Given the description of an element on the screen output the (x, y) to click on. 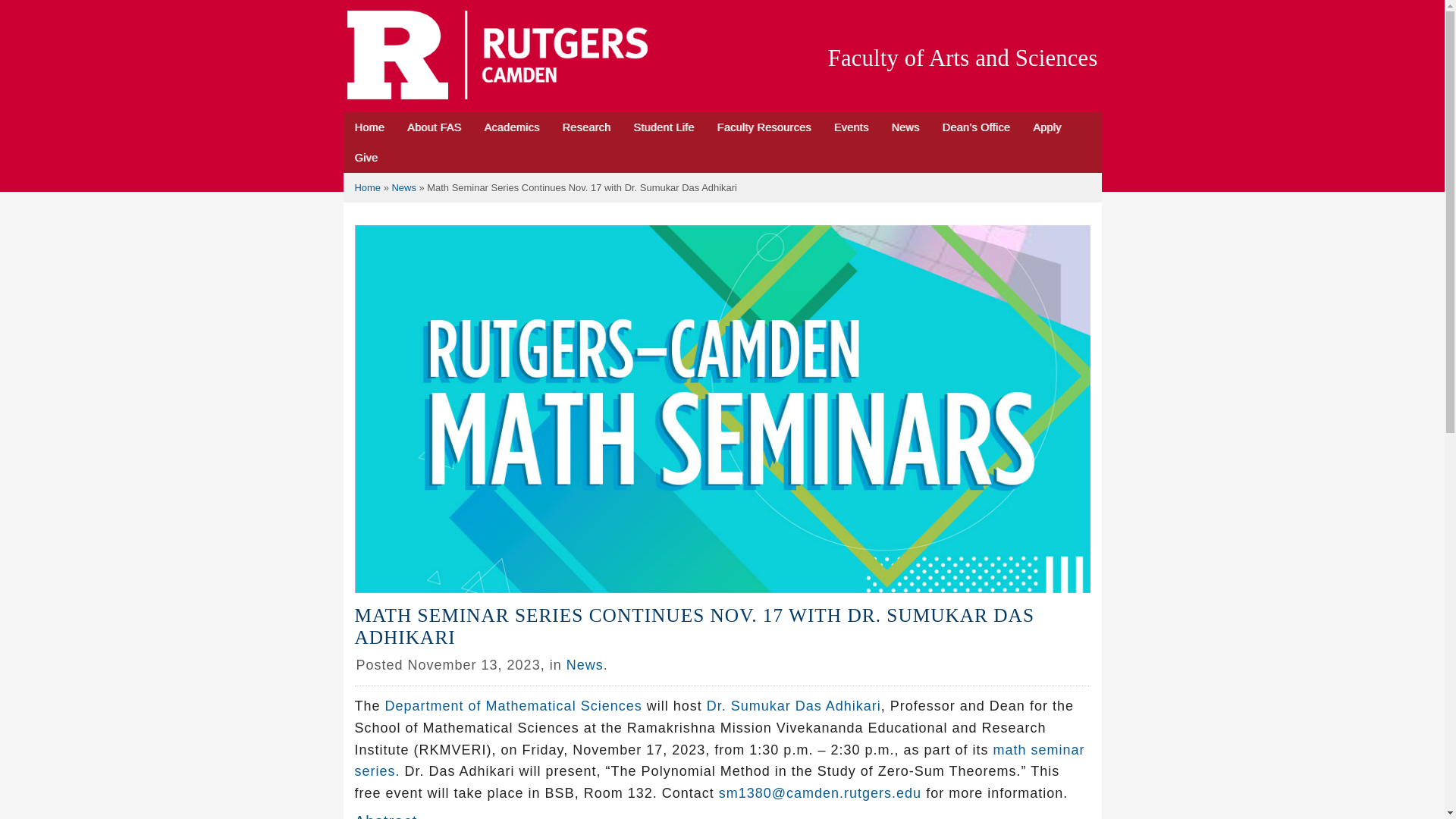
Student Life (662, 127)
About FAS (433, 127)
Academics (510, 127)
Events (851, 127)
Faculty Resources (764, 127)
Home (369, 127)
Go to Faculty of Arts and Sciences. (368, 187)
Go to News. (402, 187)
Faculty of Arts and Sciences (962, 58)
Research (585, 127)
